Given the description of an element on the screen output the (x, y) to click on. 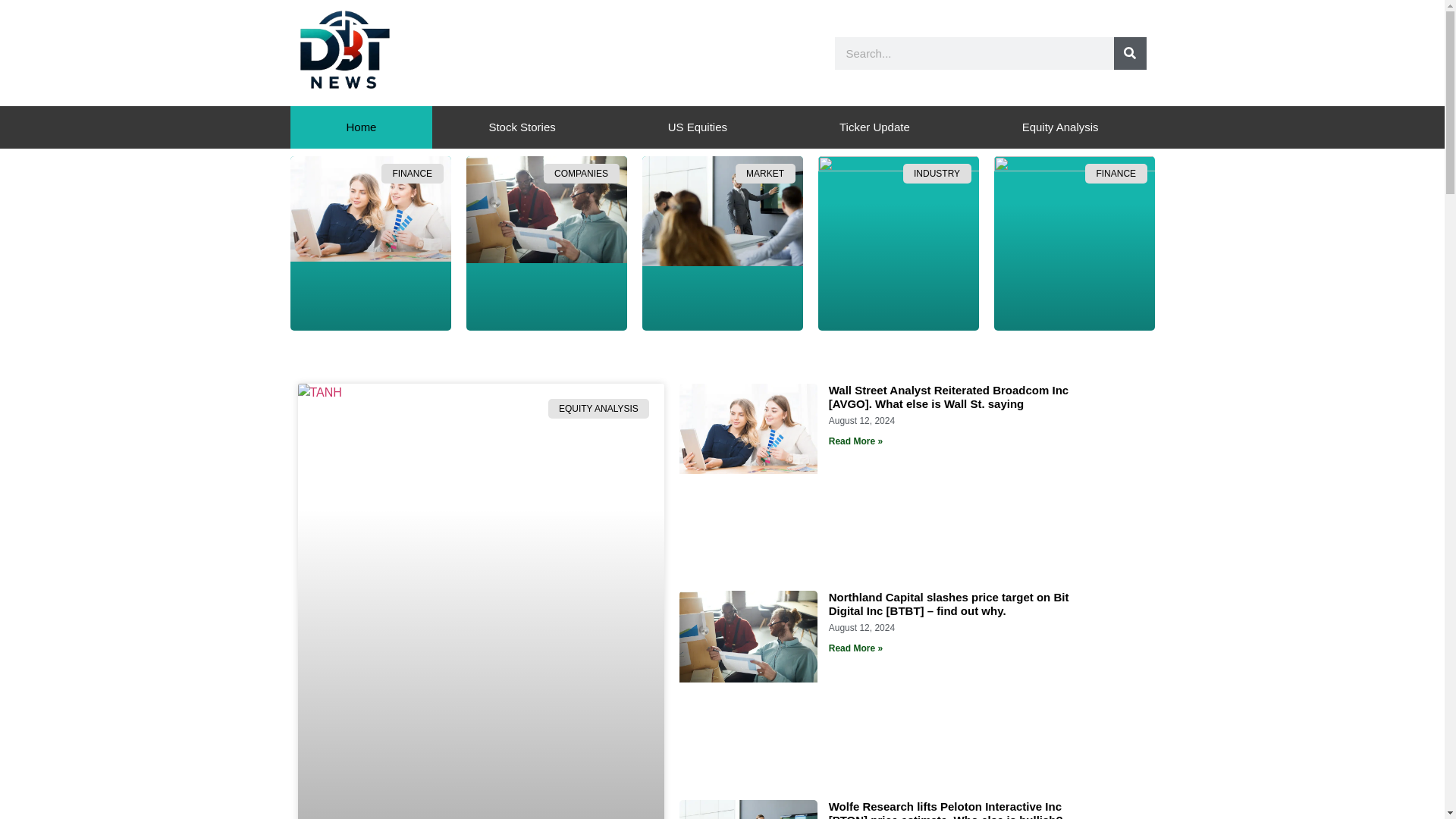
Stock Stories (521, 127)
Home (360, 127)
Ticker Update (874, 127)
Equity Analysis (1060, 127)
US Equities (697, 127)
